Given the description of an element on the screen output the (x, y) to click on. 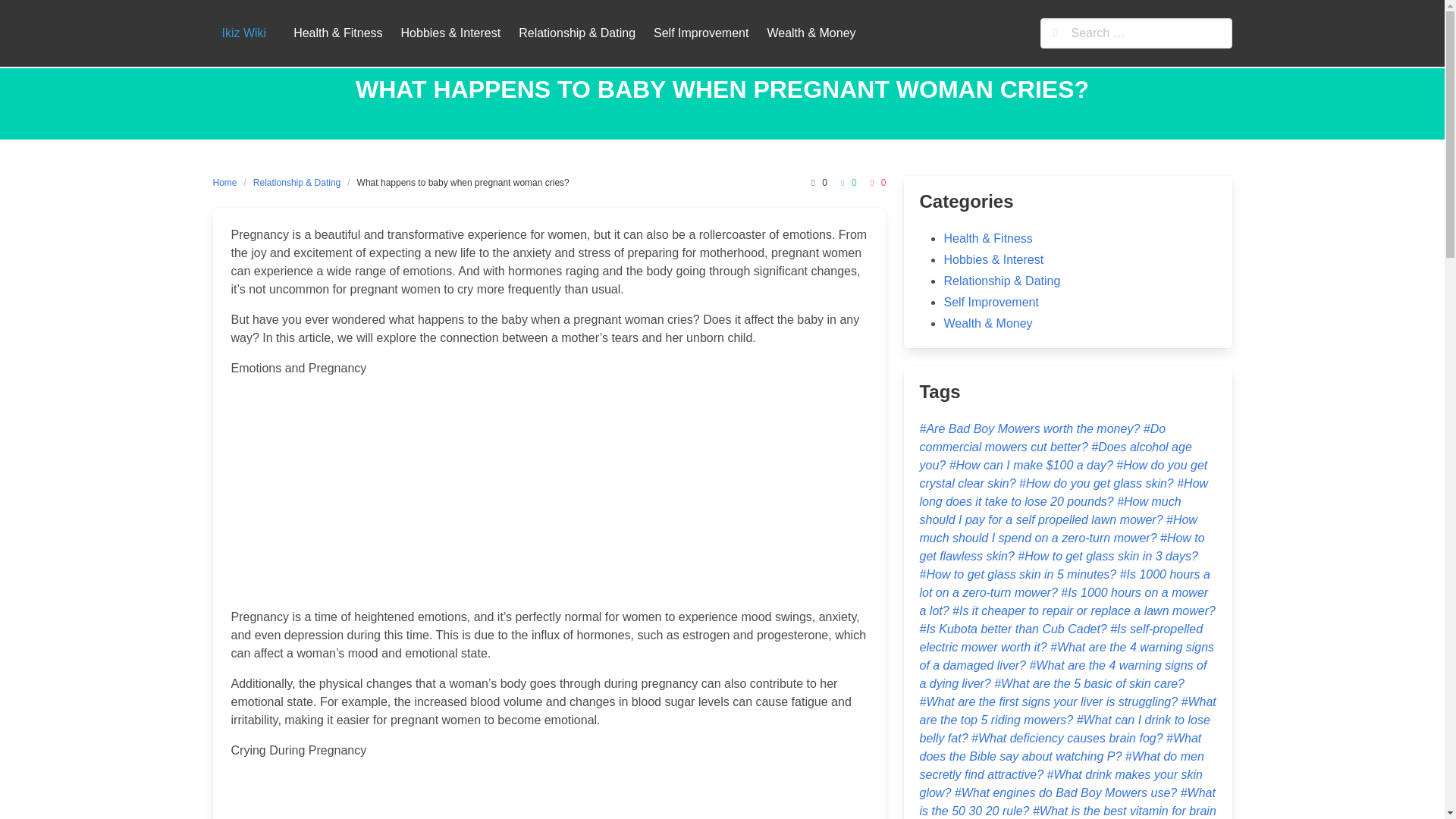
Self Improvement (701, 33)
0 (816, 182)
Ikiz Wiki (243, 33)
Advertisement (548, 795)
What happens to baby when pregnant woman cries? (463, 182)
Home (227, 182)
Self Improvement (990, 301)
Ikiz Wiki (243, 33)
0 (876, 182)
